Given the description of an element on the screen output the (x, y) to click on. 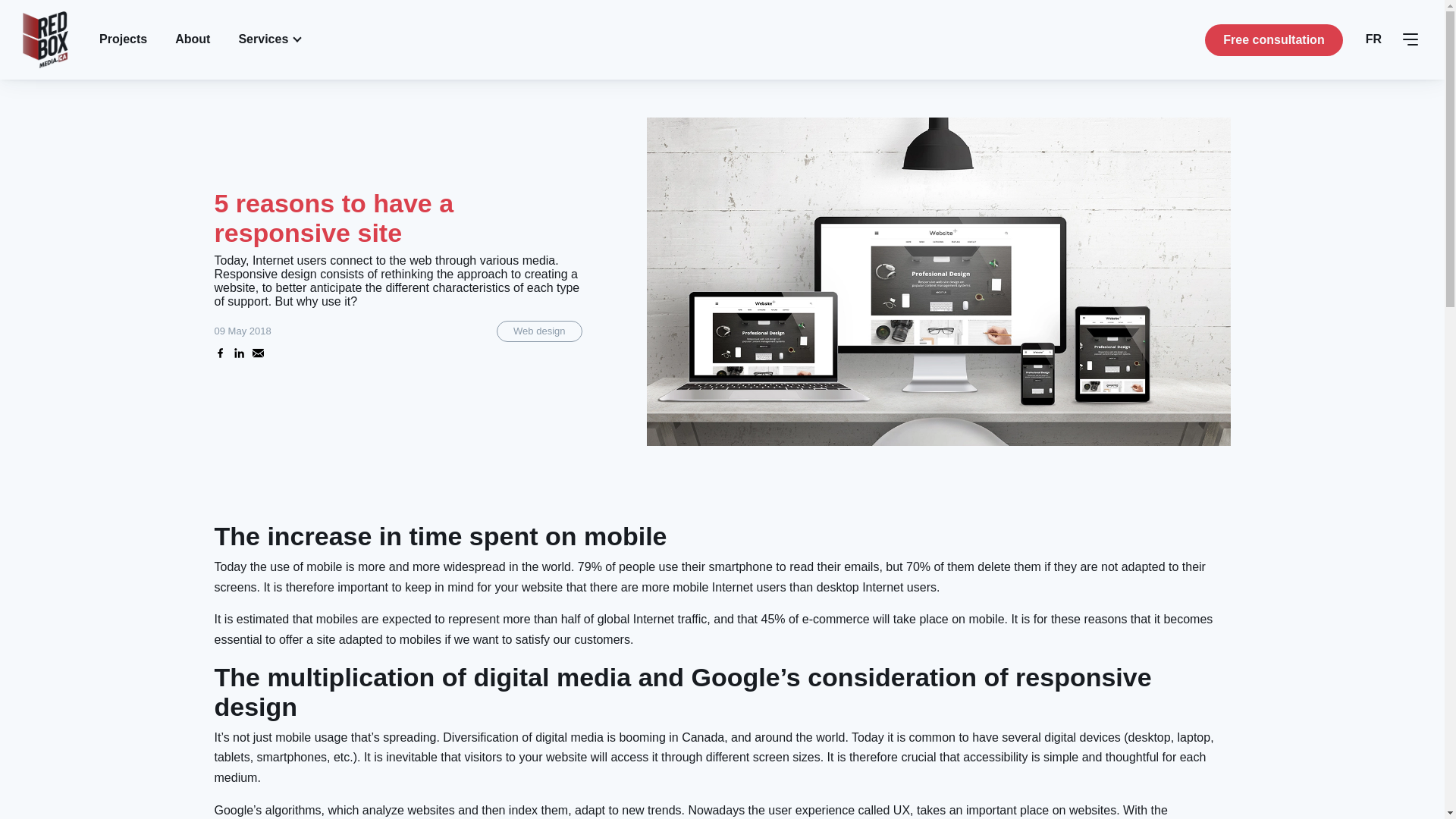
Open menu (1410, 39)
Free consultation (1273, 40)
FR (1373, 38)
Services (268, 39)
About (191, 38)
Projects (123, 38)
